Given the description of an element on the screen output the (x, y) to click on. 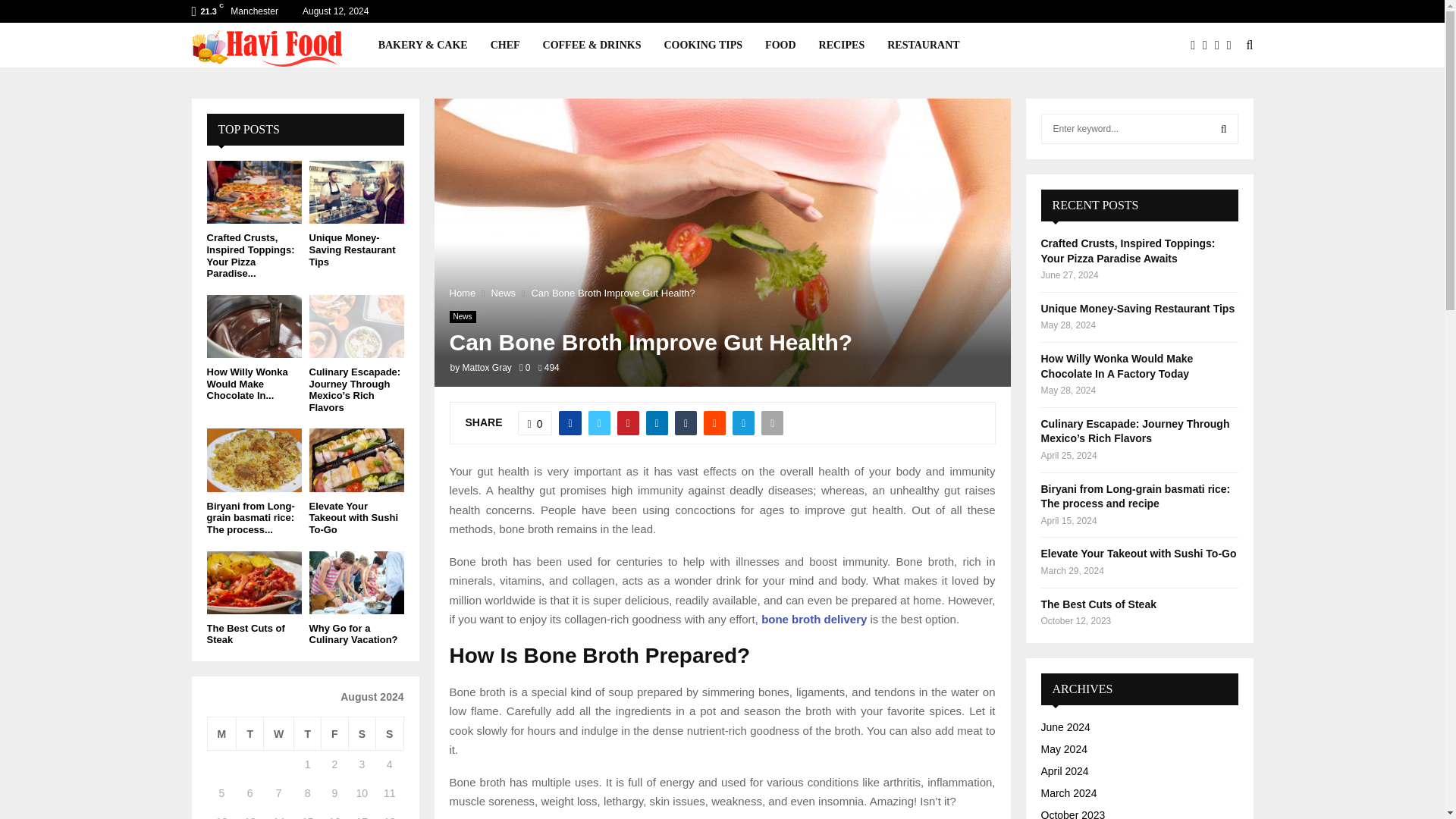
Like (535, 422)
RESTAURANT (922, 44)
Home (462, 292)
0 (524, 367)
News (504, 292)
Mattox Gray (487, 367)
News (462, 316)
0 (535, 422)
Can Bone Broth Improve Gut Health? (612, 292)
RECIPES (841, 44)
